Given the description of an element on the screen output the (x, y) to click on. 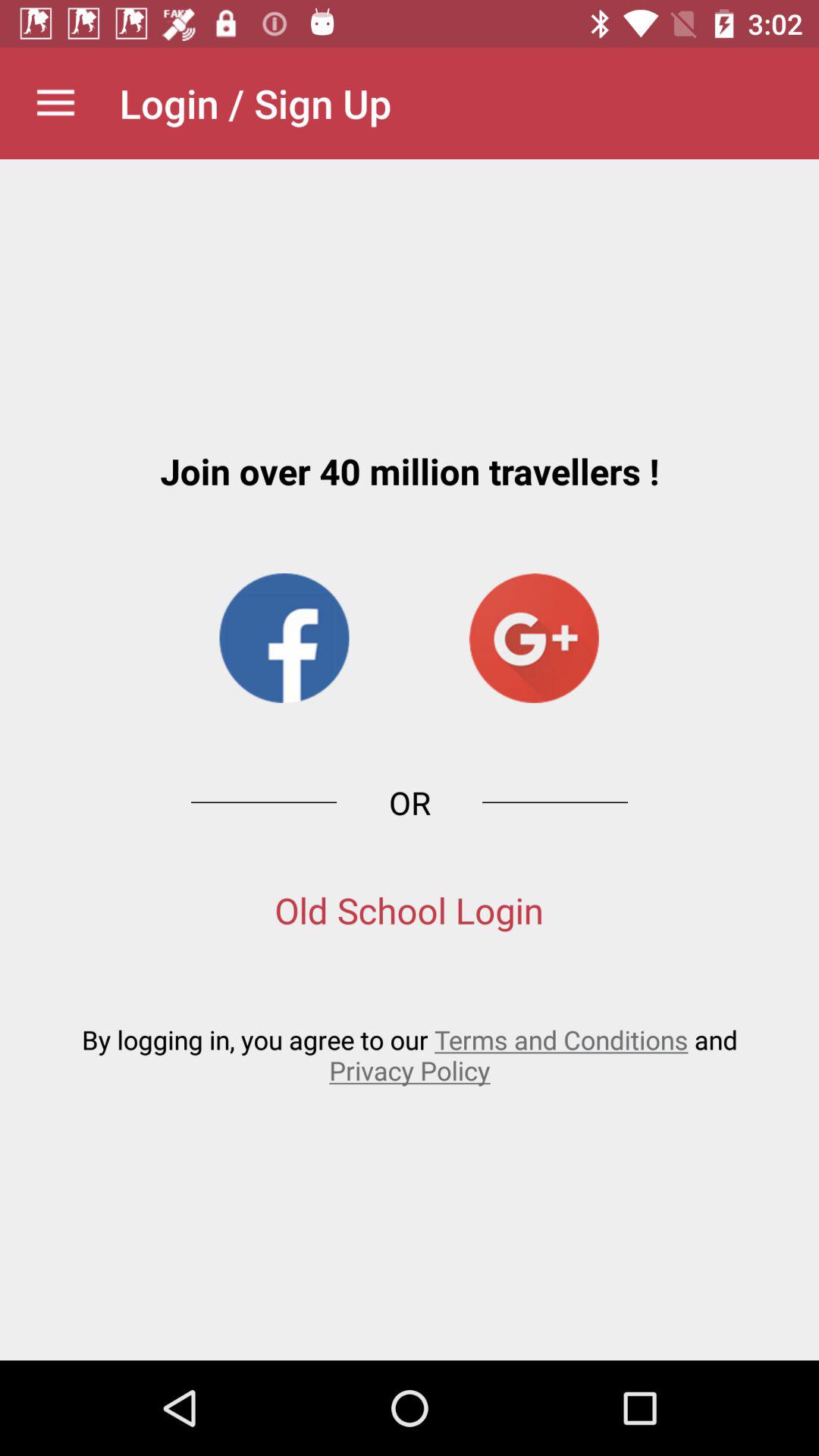
swipe until the by logging in icon (409, 1055)
